Given the description of an element on the screen output the (x, y) to click on. 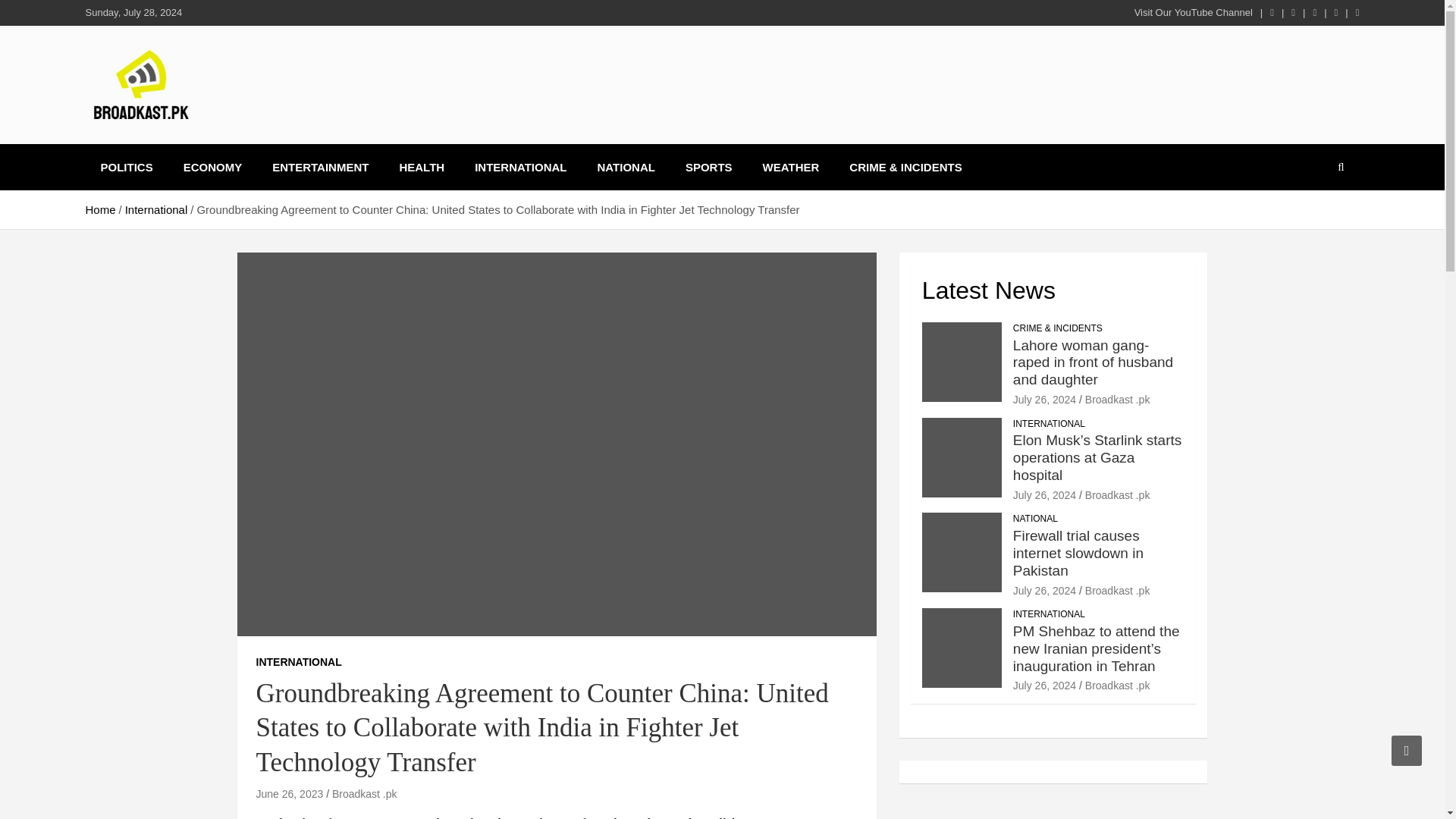
June 26, 2023 (289, 793)
July 26, 2024 (1044, 494)
Broadkast .pk (1117, 399)
Latest News (988, 289)
SPORTS (708, 167)
Broadkast .pk (364, 793)
Firewall trial causes internet slowdown in Pakistan (1044, 590)
POLITICS (125, 167)
Visit Our YouTube Channel (1193, 12)
HEALTH (422, 167)
INTERNATIONAL (299, 662)
INTERNATIONAL (1048, 423)
ECONOMY (212, 167)
INTERNATIONAL (520, 167)
Lahore woman gang-raped in front of husband and daughter (1093, 362)
